Given the description of an element on the screen output the (x, y) to click on. 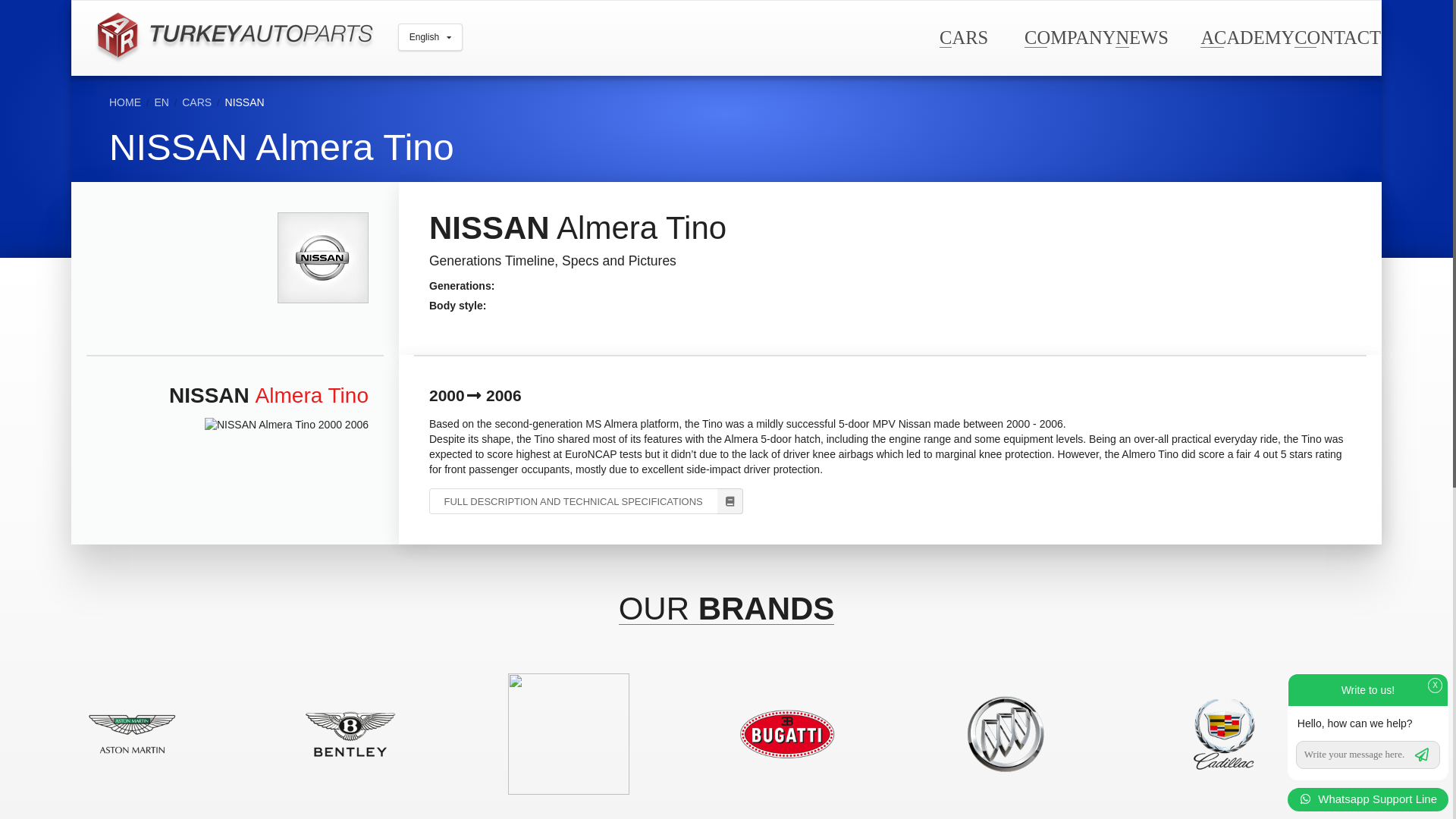
COMPANY (1070, 37)
CONTACT (1337, 37)
HOME (125, 102)
CARS (963, 37)
NISSAN (244, 102)
EN (161, 102)
FULL DESCRIPTION AND TECHNICAL SPECIFICATIONS (585, 500)
CARS (196, 102)
NEWS (1141, 37)
ACADEMY (1246, 37)
